Given the description of an element on the screen output the (x, y) to click on. 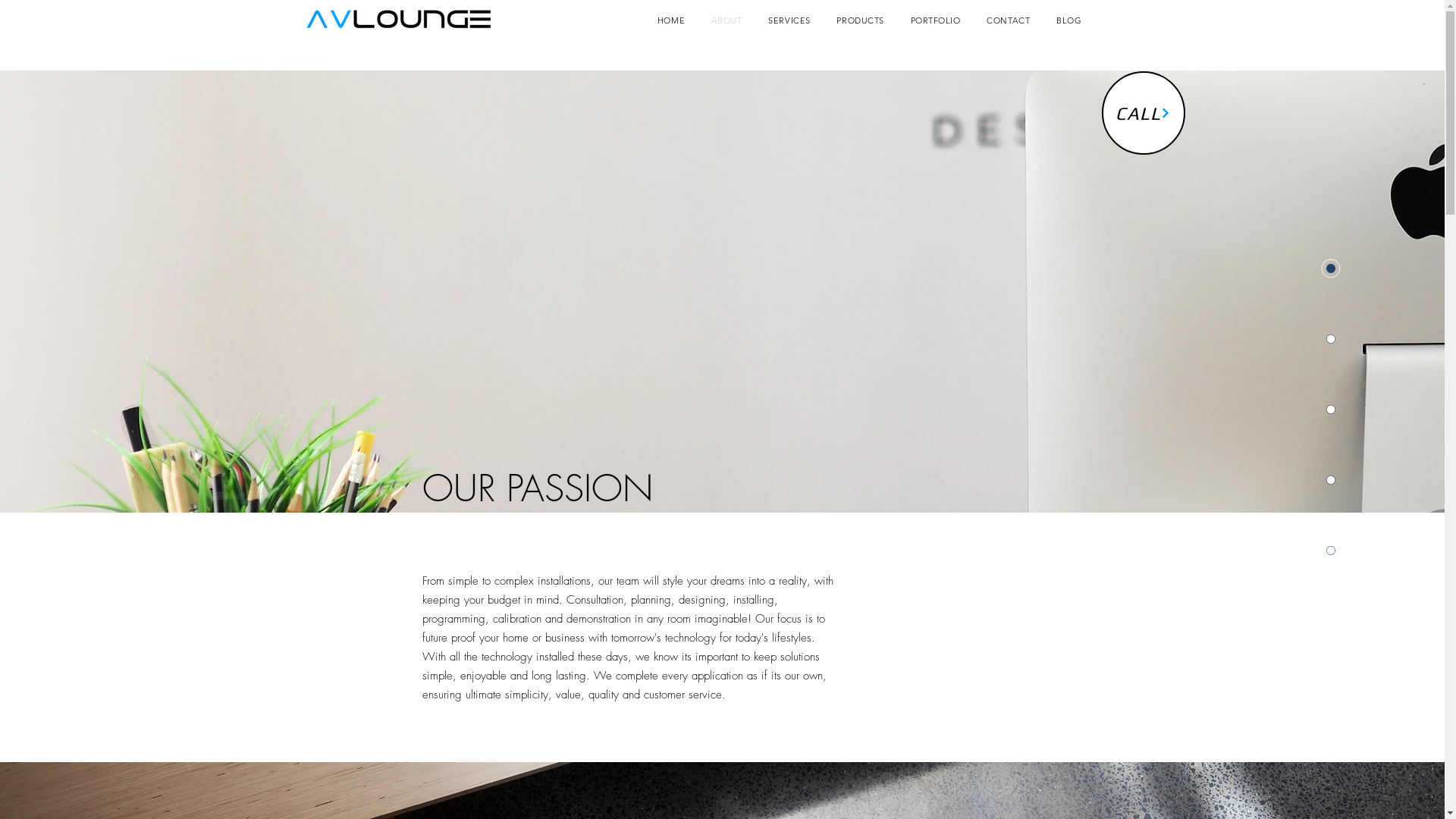
CALL Element type: text (1142, 112)
BLOG Element type: text (1069, 20)
ABOUT Element type: text (726, 20)
PRODUCTS Element type: text (860, 20)
HOME Element type: text (671, 20)
CONTACT Element type: text (1008, 20)
PORTFOLIO Element type: text (935, 20)
